Given the description of an element on the screen output the (x, y) to click on. 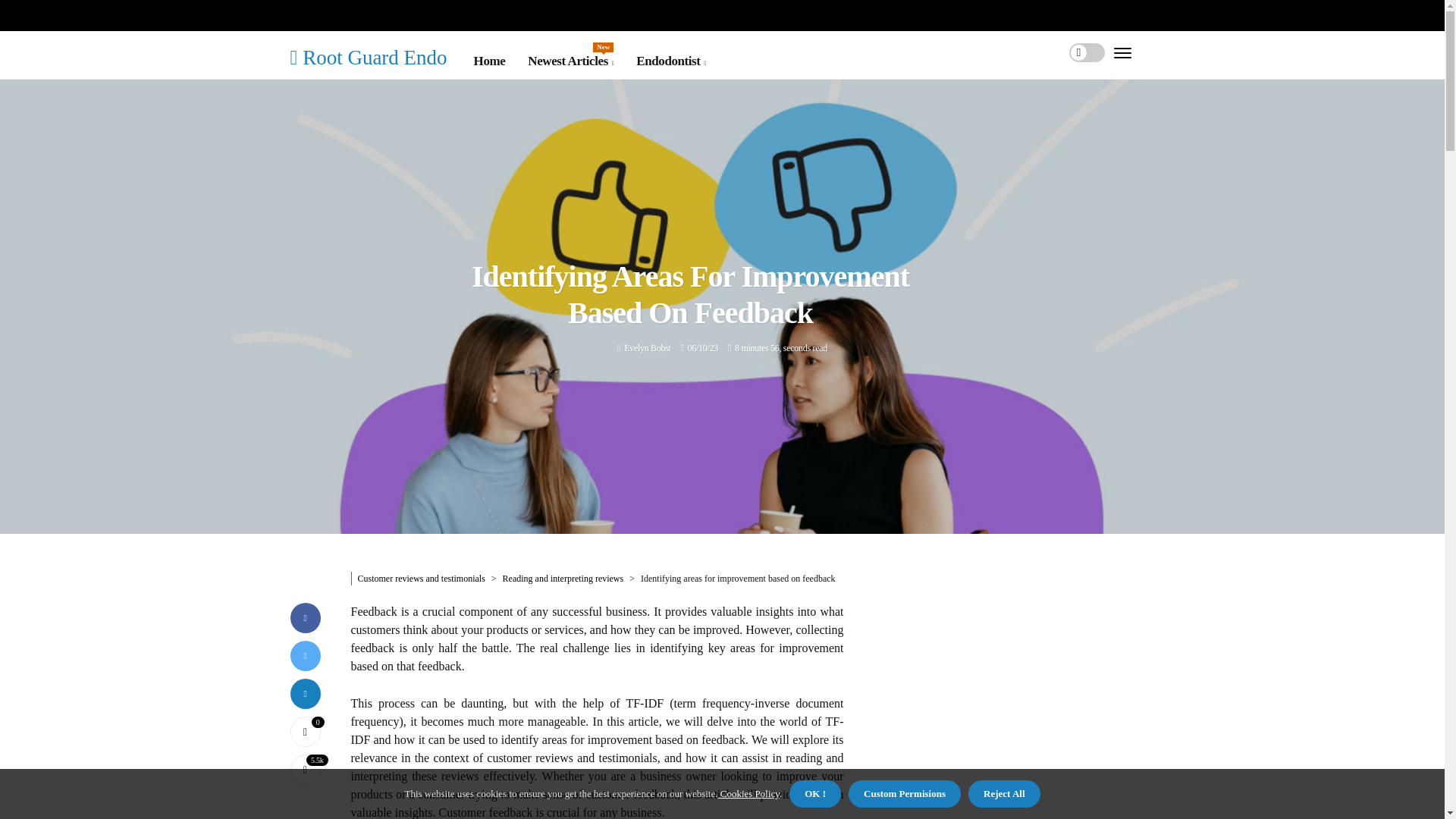
Like (304, 730)
Posts by Evelyn Bobst (569, 61)
Root Guard Endo (646, 347)
Endodontist (367, 56)
